Given the description of an element on the screen output the (x, y) to click on. 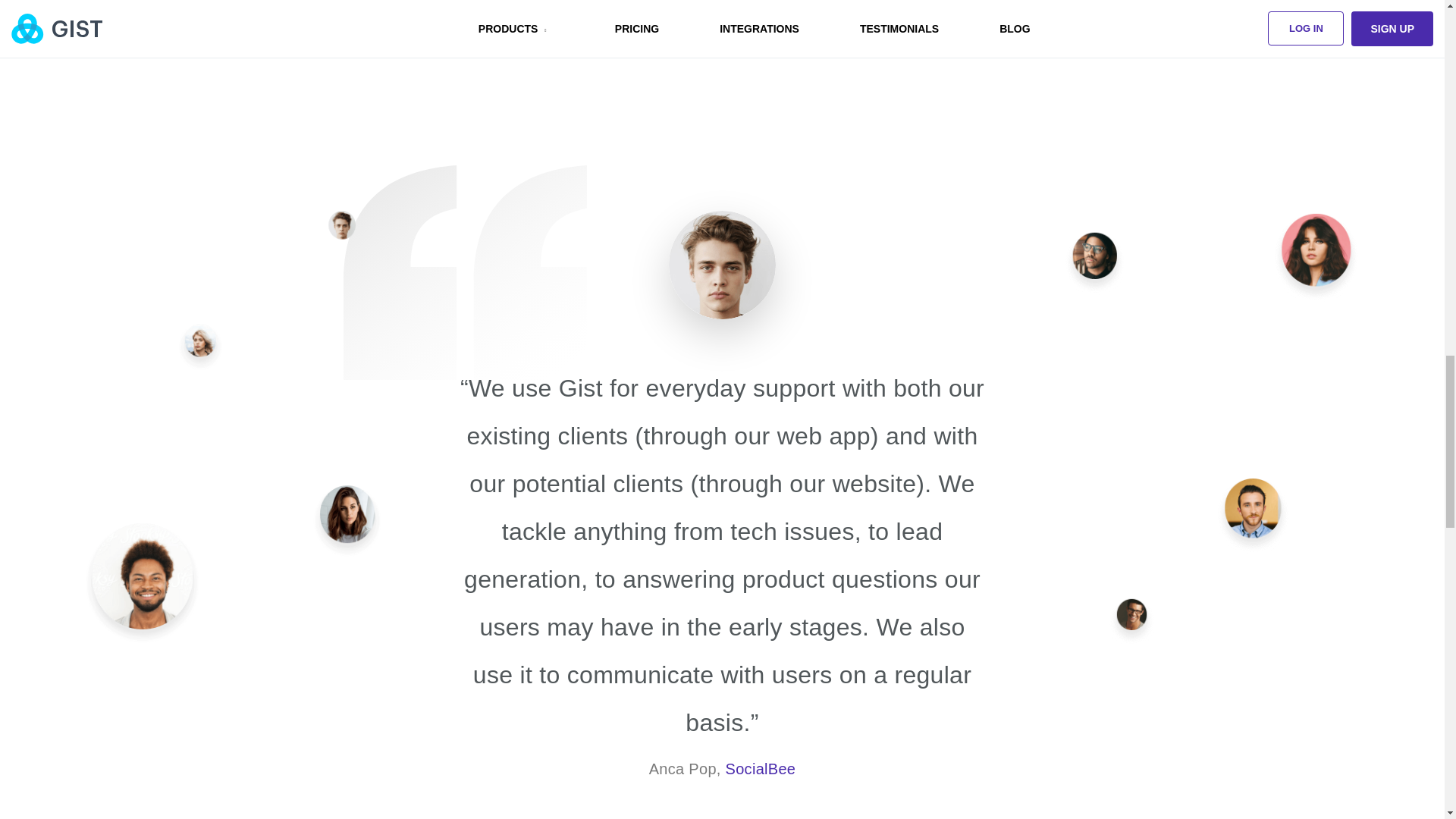
SocialBee (760, 768)
